Given the description of an element on the screen output the (x, y) to click on. 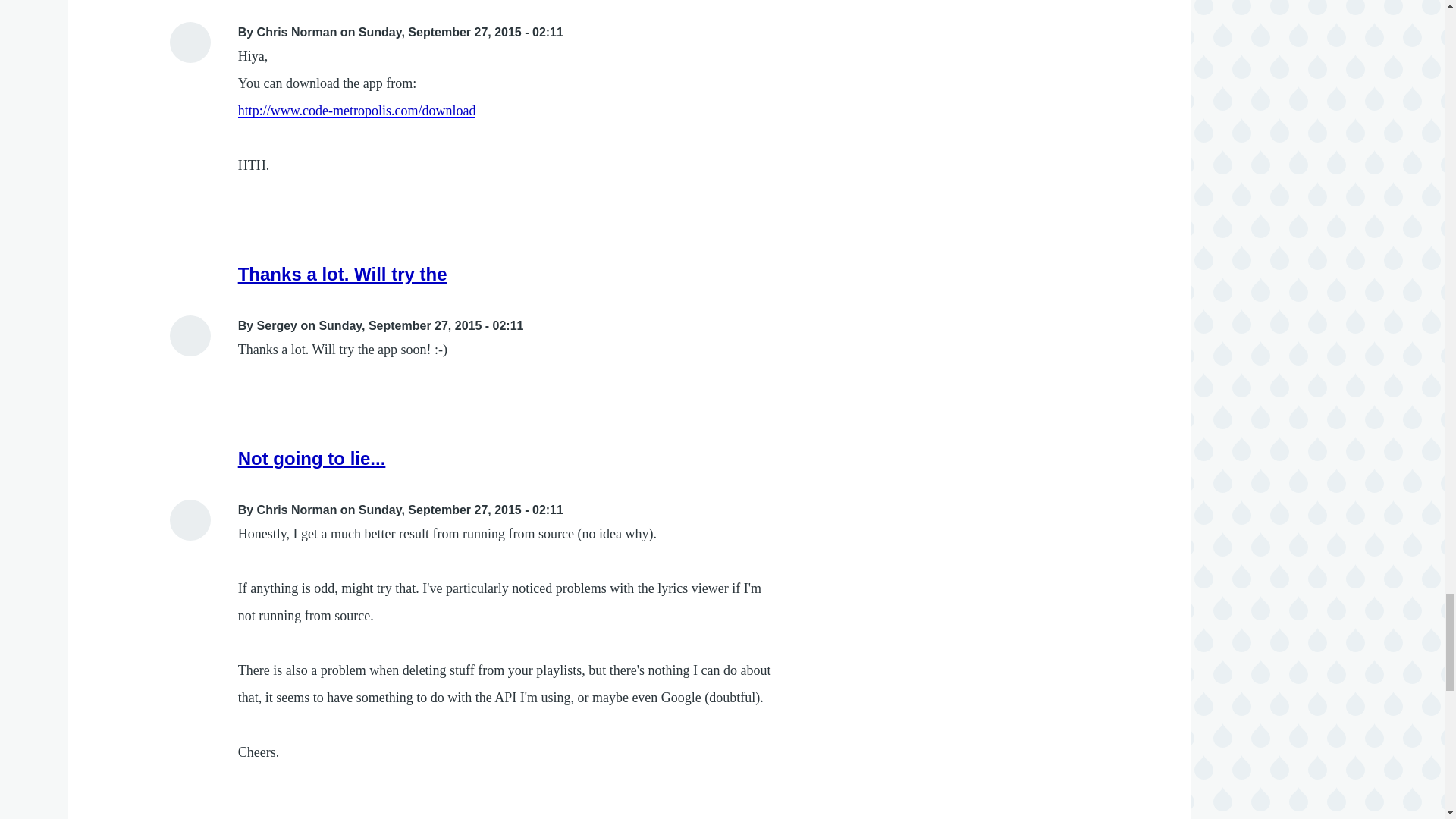
Thanks a lot. Will try the (342, 273)
